Given the description of an element on the screen output the (x, y) to click on. 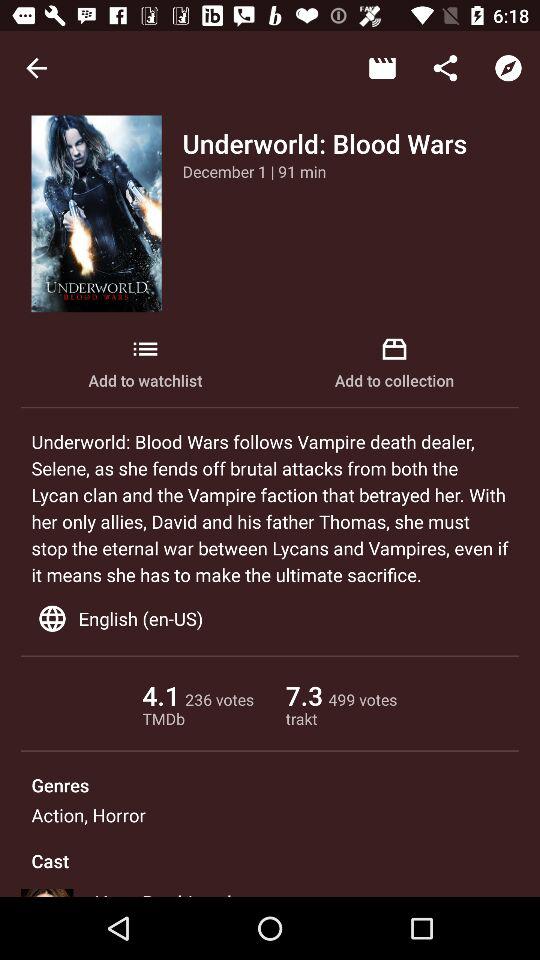
launch the item below the underworld: blood wars (254, 171)
